Given the description of an element on the screen output the (x, y) to click on. 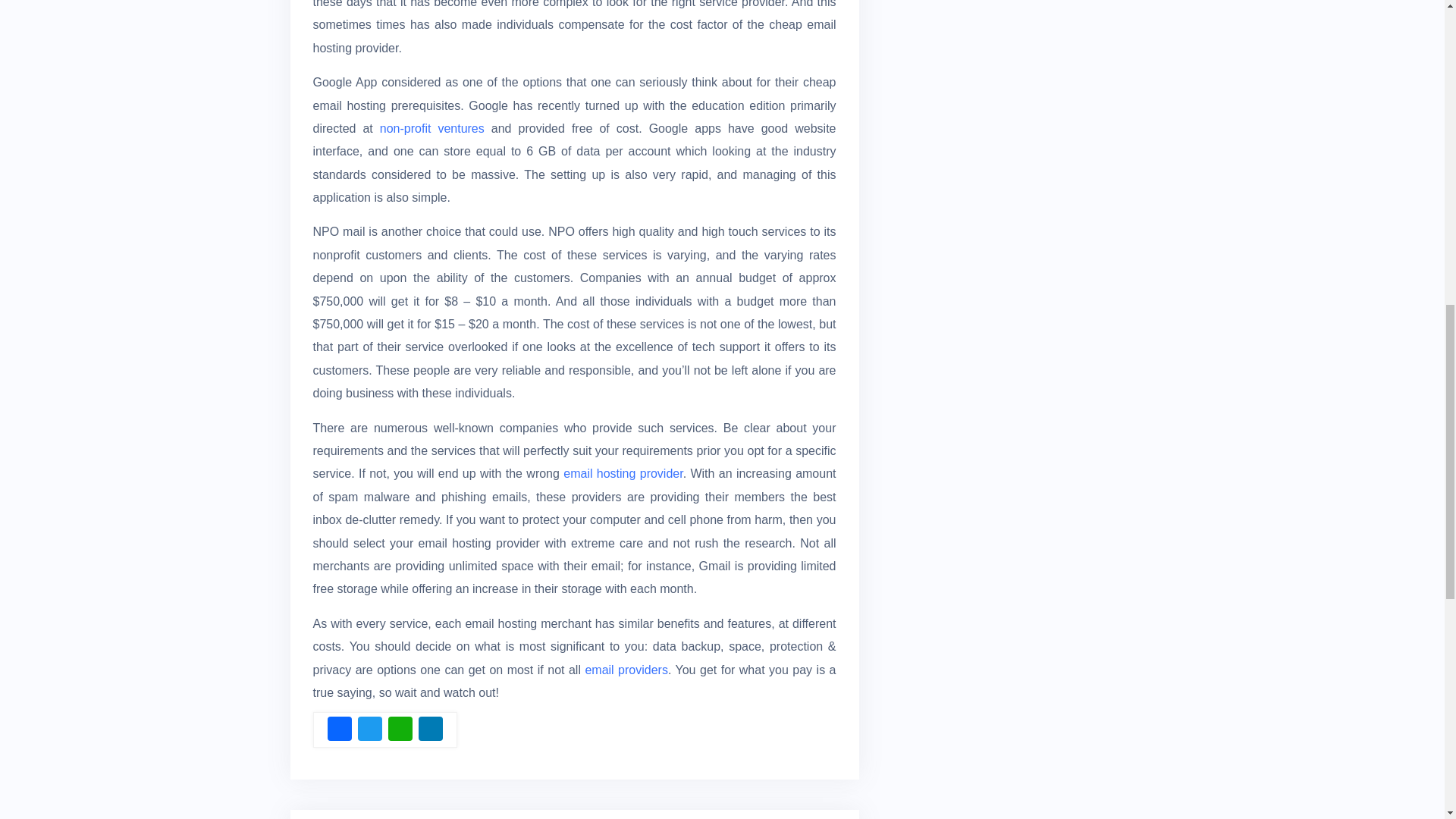
Facebook (339, 730)
Twitter (370, 730)
WhatsApp (399, 730)
Twitter (370, 730)
non-profit ventures (432, 128)
email providers (626, 669)
email hosting provider (622, 472)
LinkedIn (429, 730)
Facebook (339, 730)
WhatsApp (399, 730)
LinkedIn (429, 730)
